Given the description of an element on the screen output the (x, y) to click on. 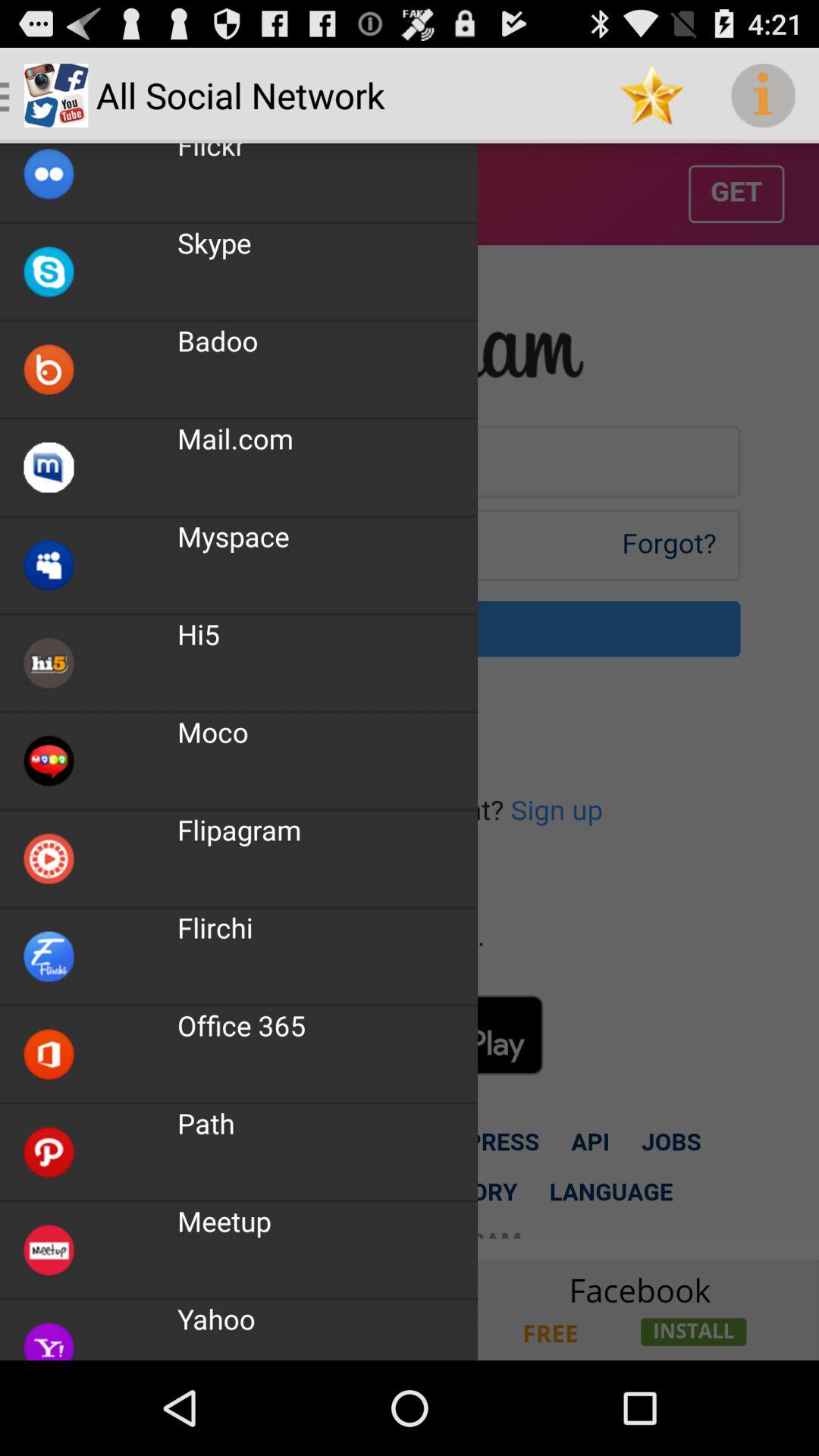
swipe to the mail.com app (235, 438)
